Given the description of an element on the screen output the (x, y) to click on. 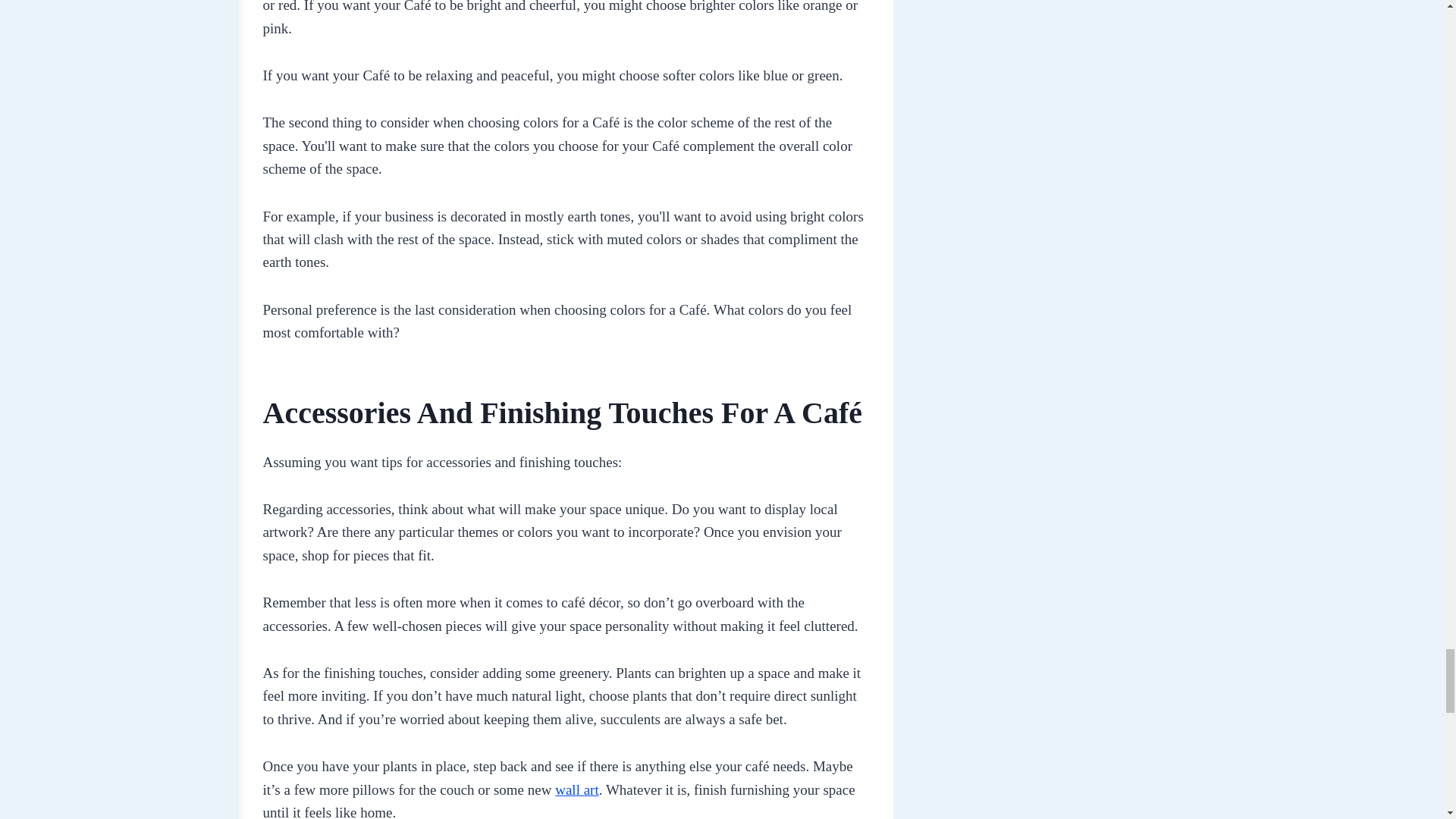
wall art (576, 789)
